Given the description of an element on the screen output the (x, y) to click on. 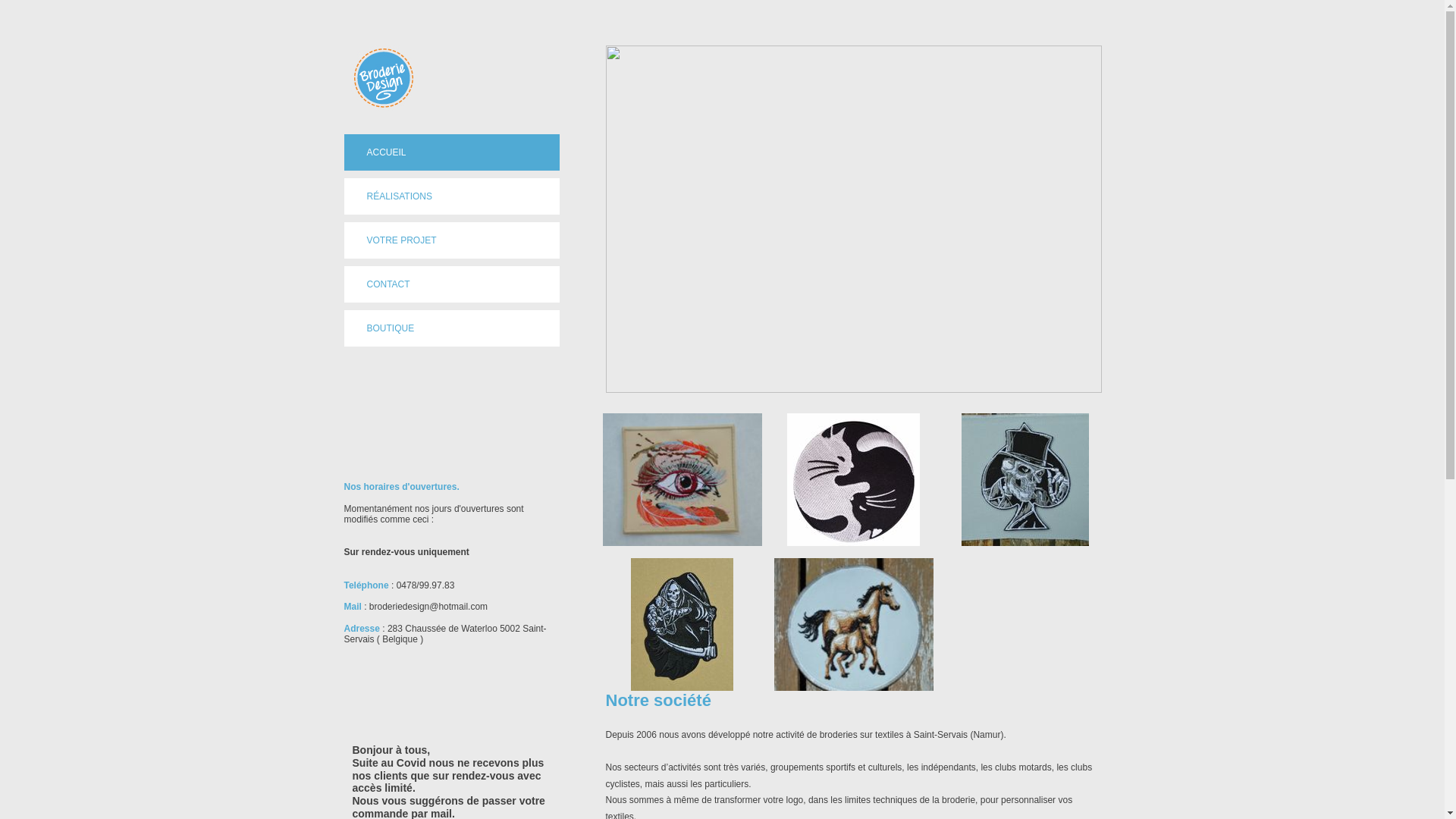
Ecusson blanc gris 2 chevaux Element type: hover (852, 635)
CONTACT Element type: text (451, 284)
chat ying yang Element type: hover (852, 479)
Ecusson as de pique noir Element type: hover (1024, 479)
Bracelet 47 Element type: hover (681, 479)
Ecusson blanc gris 2 chevaux Element type: hover (852, 624)
ACCUEIL Element type: text (451, 152)
BOUTIQUE Element type: text (451, 328)
Ecusson as de pique noir Element type: hover (1024, 479)
Ecusson faucheuse Element type: hover (681, 624)
Ecusson faucheuse Element type: hover (681, 624)
chat ying yang Element type: hover (853, 479)
VOTRE PROJET Element type: text (451, 240)
Bracelet 47 Element type: hover (681, 484)
